Given the description of an element on the screen output the (x, y) to click on. 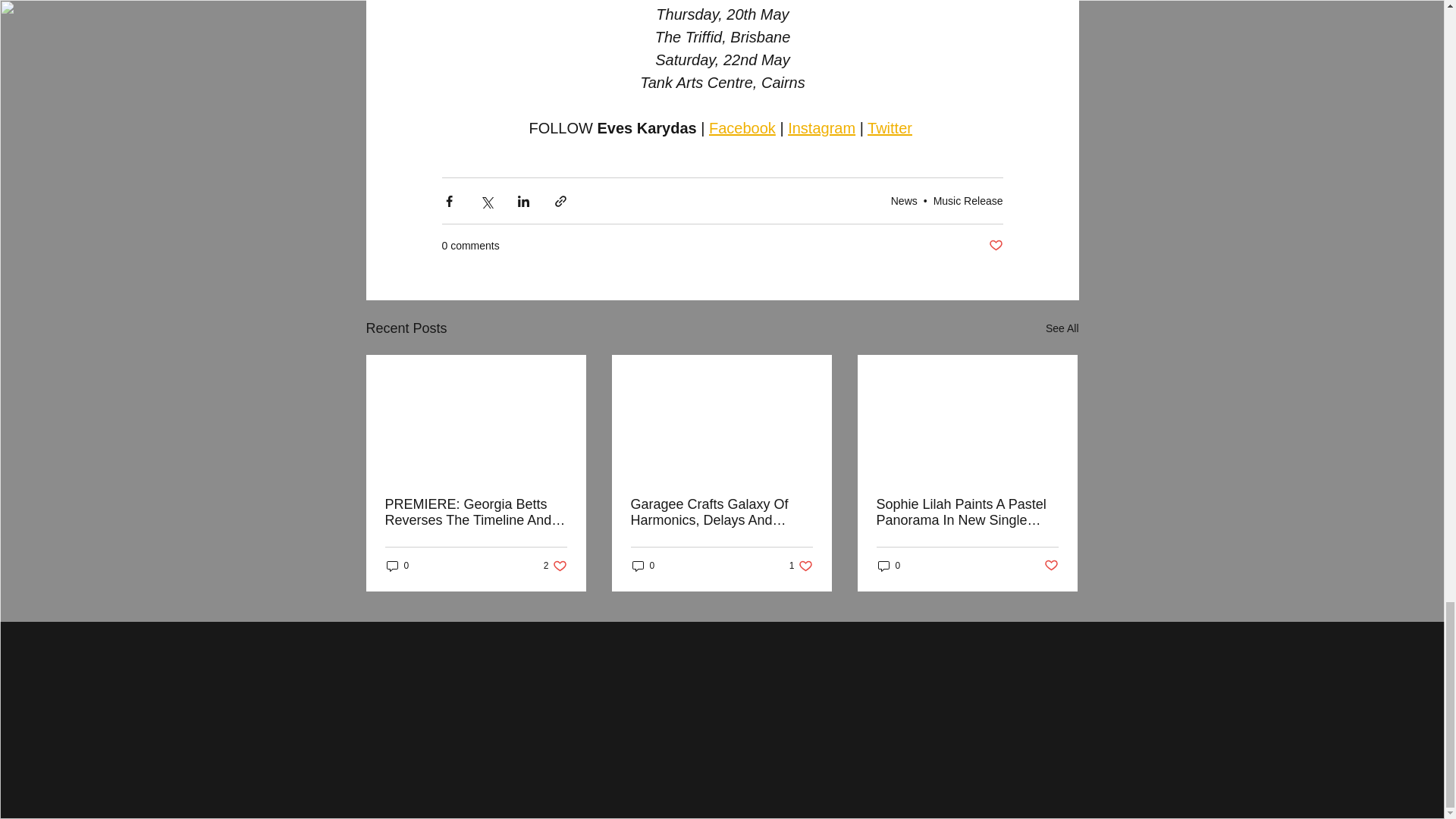
See All (1061, 328)
Twitter (555, 565)
Facebook (889, 127)
Instagram (740, 127)
0 (821, 127)
0 (397, 565)
Garagee Crafts Galaxy Of Harmonics, Delays And Velvet Vocals (643, 565)
Music Release (721, 512)
